Given the description of an element on the screen output the (x, y) to click on. 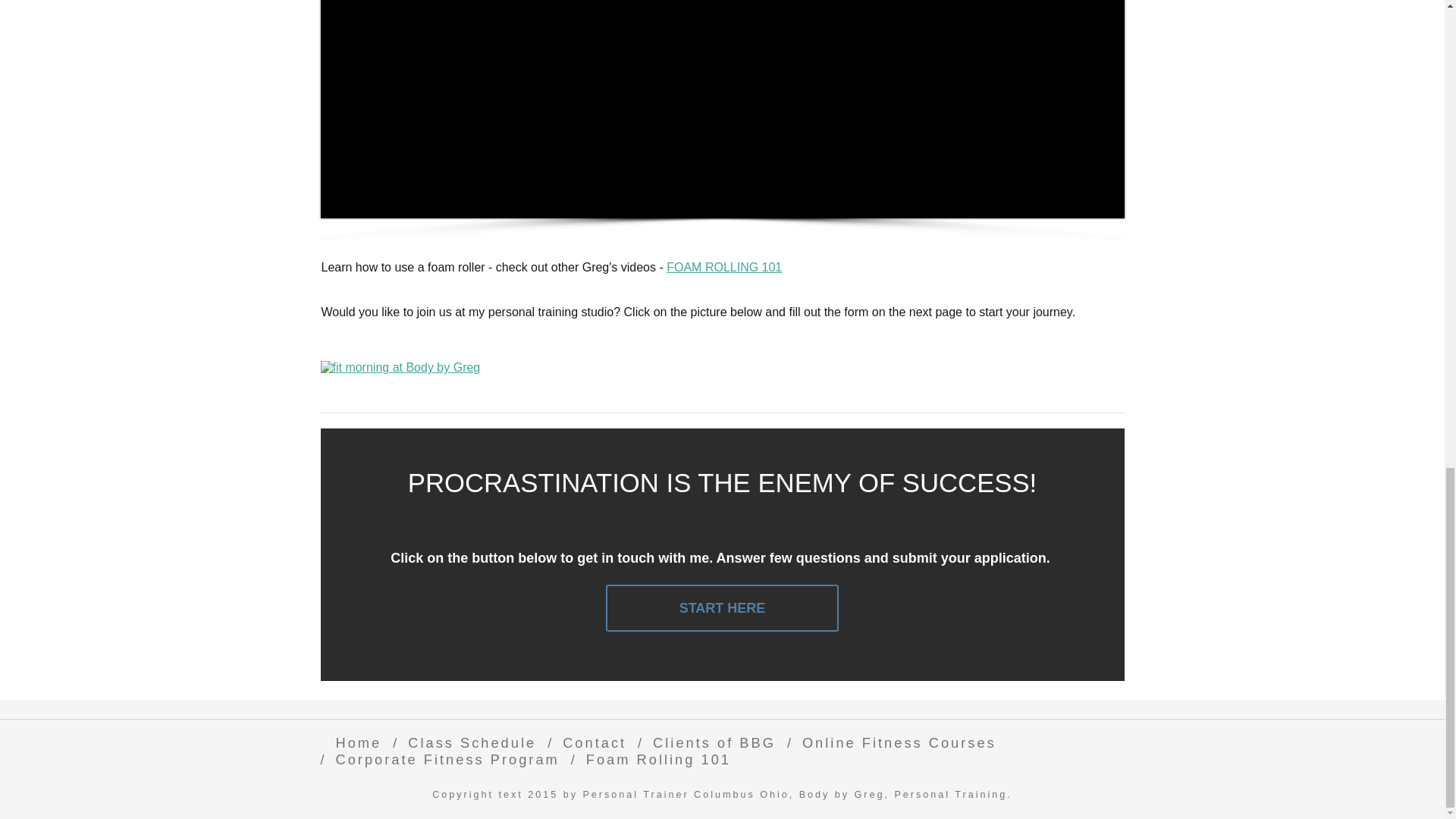
START HERE (722, 607)
Class Schedule (468, 742)
Foam Rolling 101 (654, 759)
Contact (590, 742)
Online Fitness Courses (895, 742)
Home (354, 742)
fitcampbbg (400, 367)
Clients of BBG (710, 742)
Corporate Fitness Program (443, 759)
FOAM ROLLING 101 (723, 267)
